Given the description of an element on the screen output the (x, y) to click on. 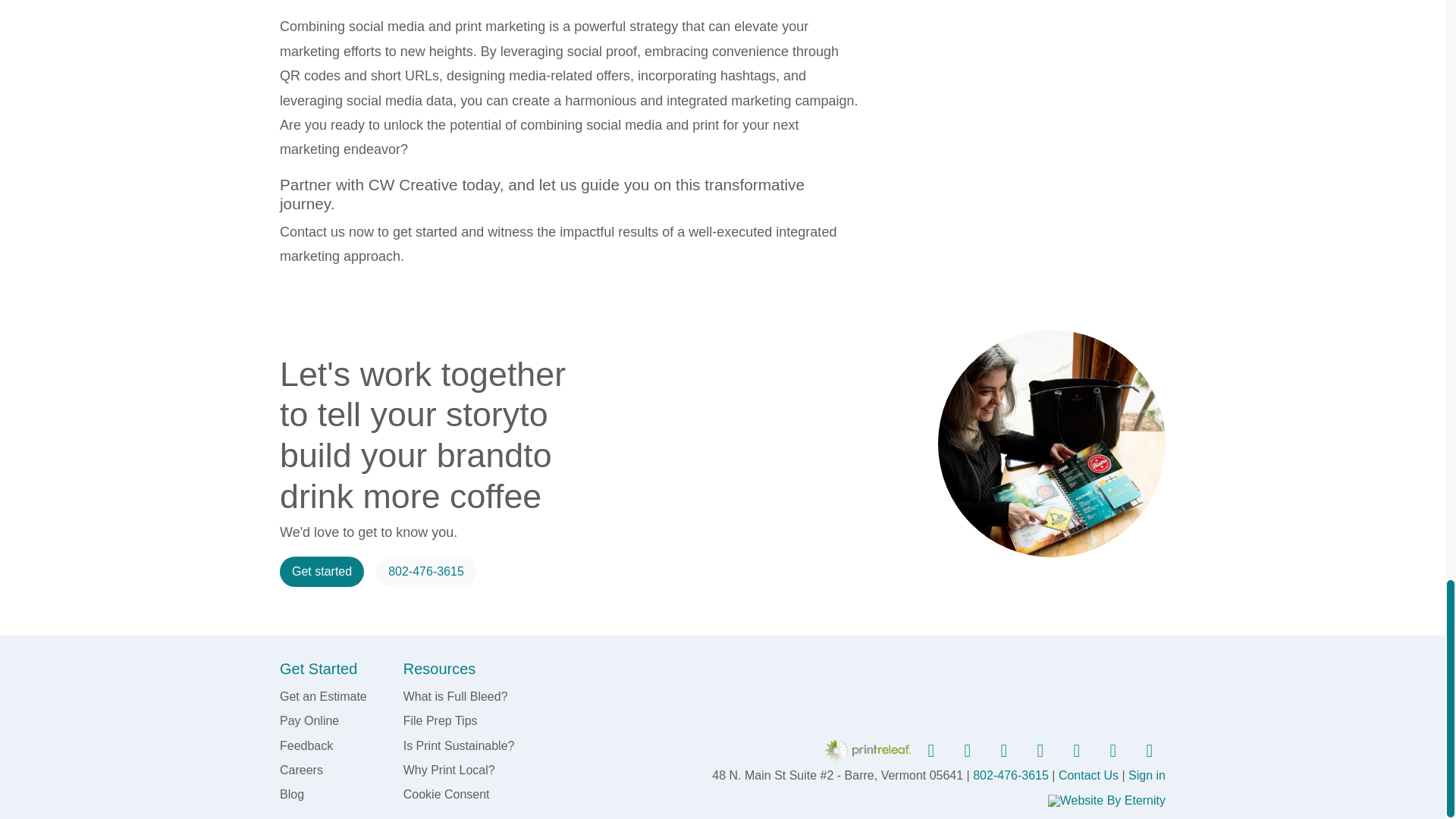
Watch us on YouTube (1111, 750)
Find us on Yelp (1075, 750)
Find us on Pinterest (1002, 750)
Follow us on Instagram (965, 750)
Follow us on Tiktok (1147, 750)
Find us on LinkedIn (1038, 750)
Find us on Facebook (929, 750)
